Given the description of an element on the screen output the (x, y) to click on. 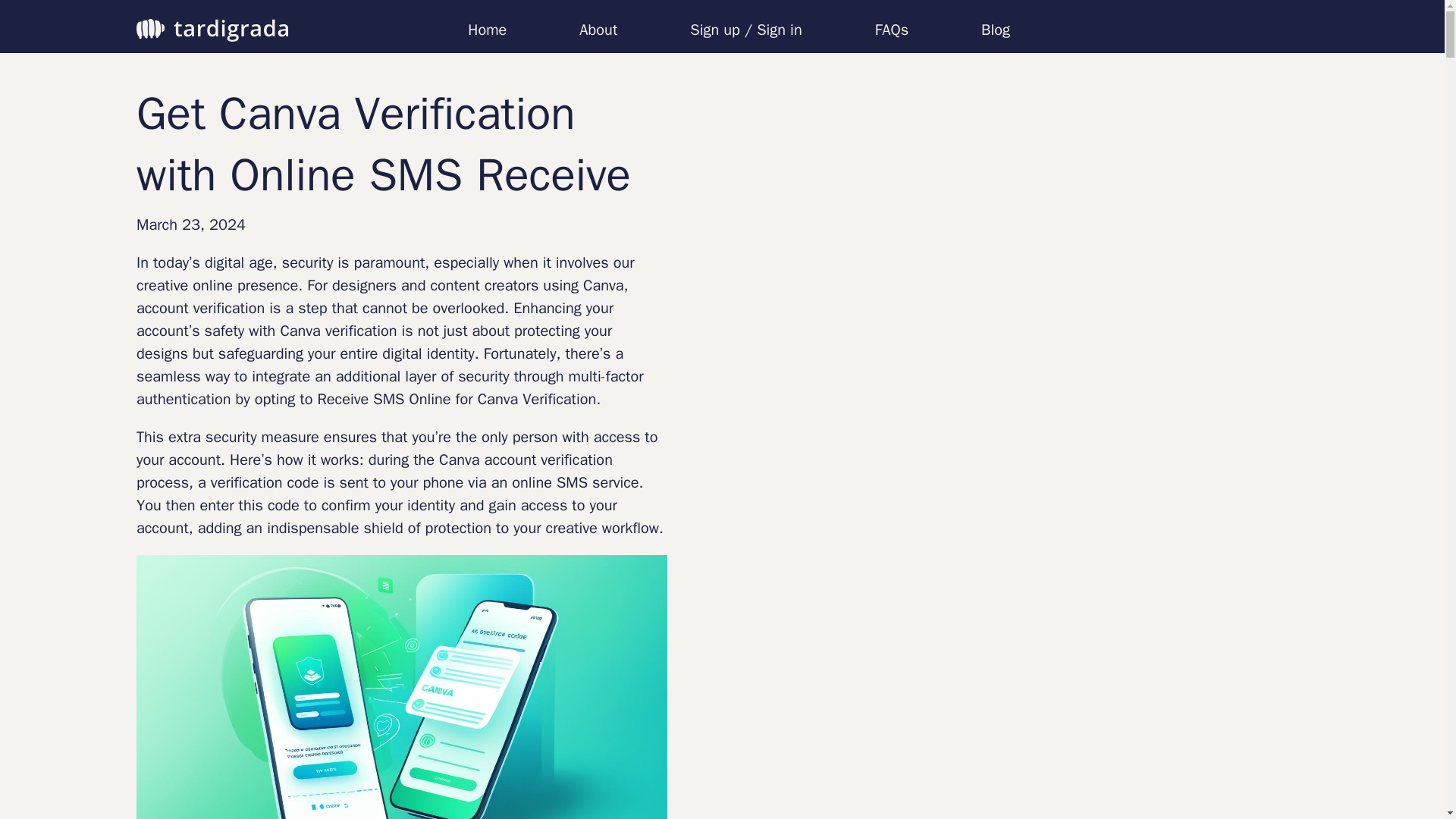
Home (486, 29)
Blog (995, 29)
About (598, 29)
FAQs (891, 29)
